Given the description of an element on the screen output the (x, y) to click on. 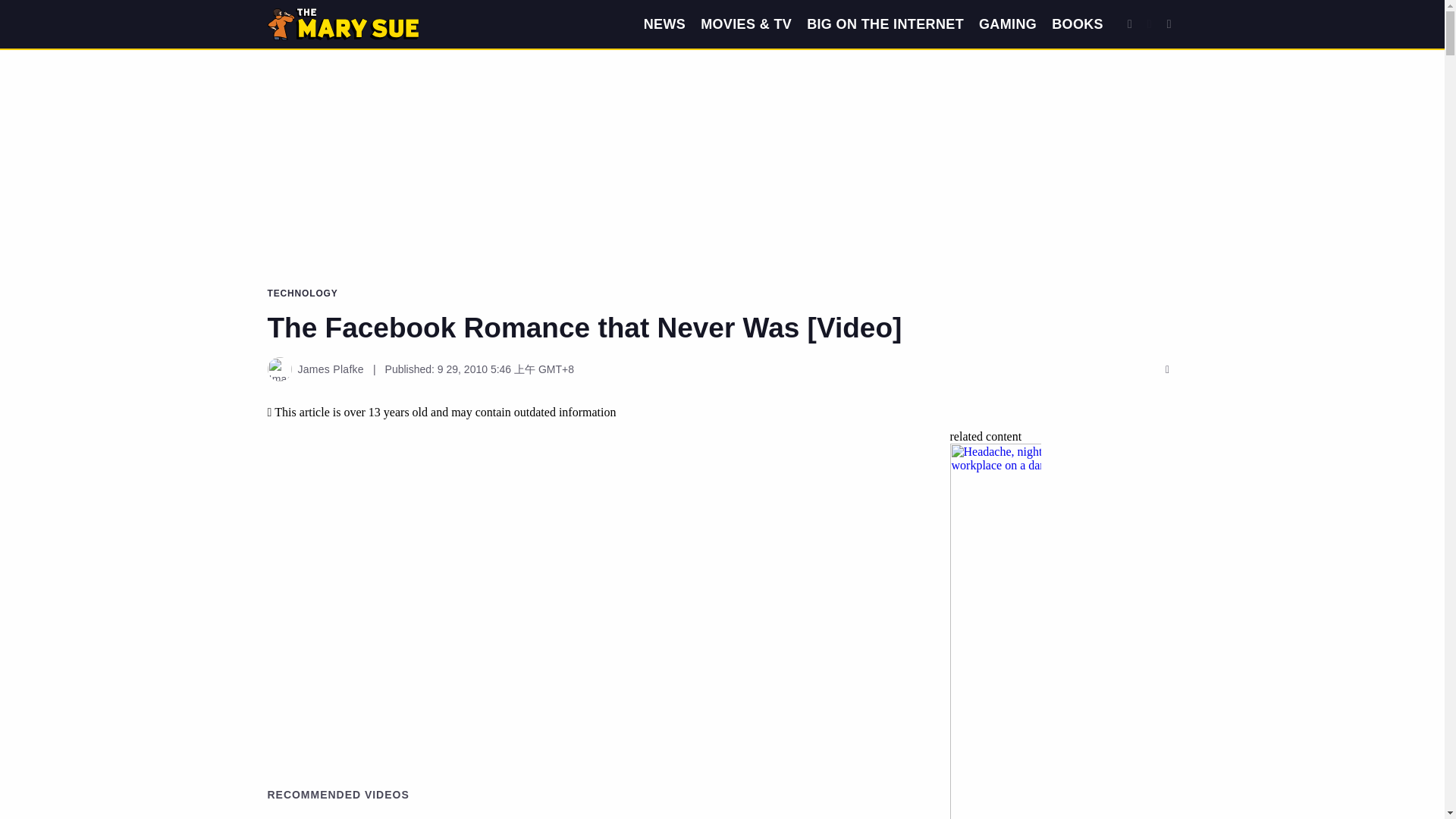
Dark Mode (1149, 23)
GAMING (1007, 23)
Search (1129, 23)
Expand Menu (1168, 23)
NEWS (664, 23)
BIG ON THE INTERNET (884, 23)
BOOKS (1077, 23)
